Given the description of an element on the screen output the (x, y) to click on. 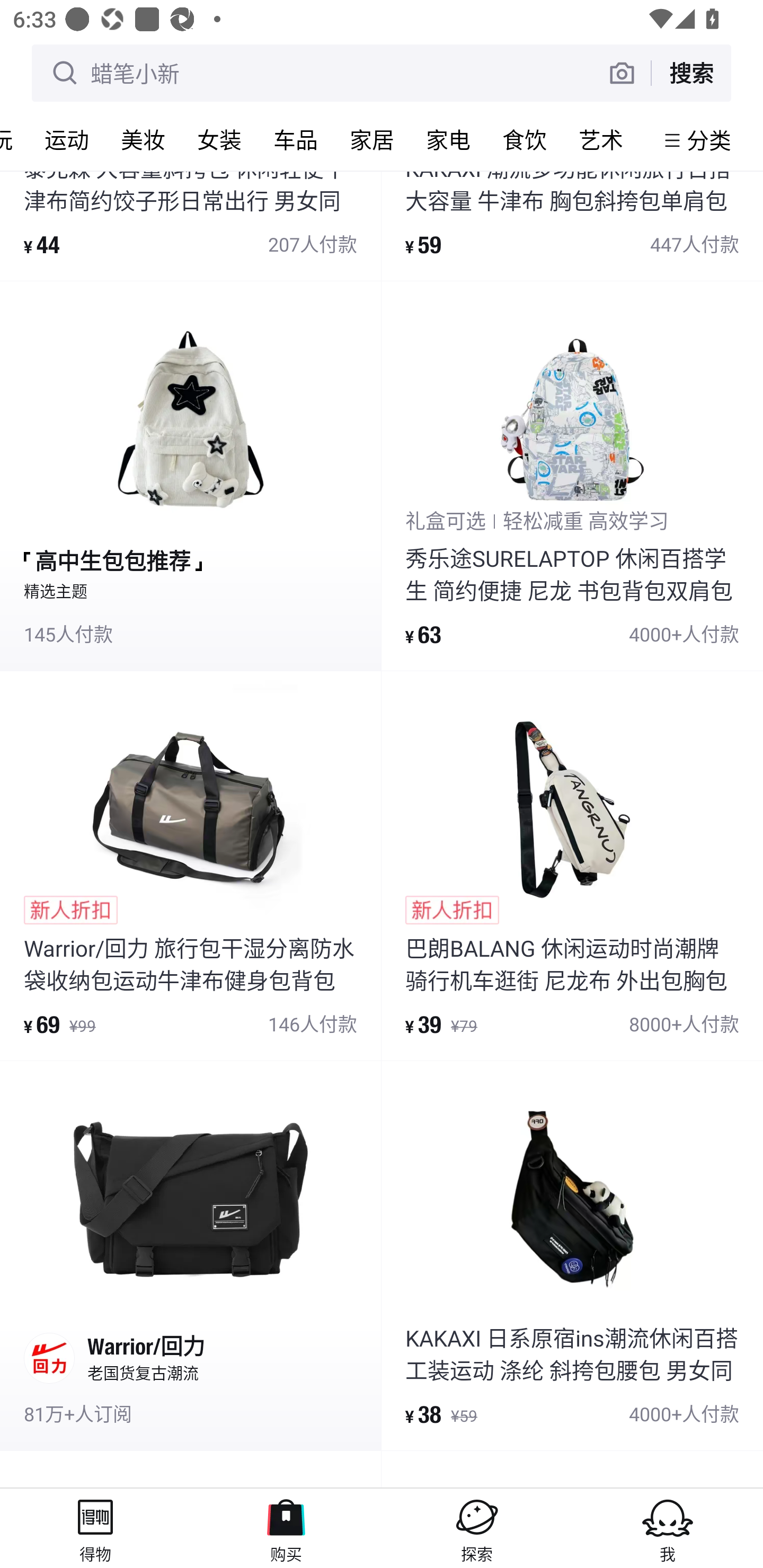
搜索 (690, 72)
运动 (66, 139)
美妆 (143, 139)
女装 (219, 139)
车品 (295, 139)
家居 (372, 139)
家电 (448, 139)
食饮 (524, 139)
艺术 (601, 139)
分类 (708, 139)
高中生包包推荐 精选主题 145人付款 (190, 475)
Warrior/回力 老国货复古潮流 81万+人订阅 (190, 1255)
得物 (95, 1528)
购买 (285, 1528)
探索 (476, 1528)
我 (667, 1528)
